Given the description of an element on the screen output the (x, y) to click on. 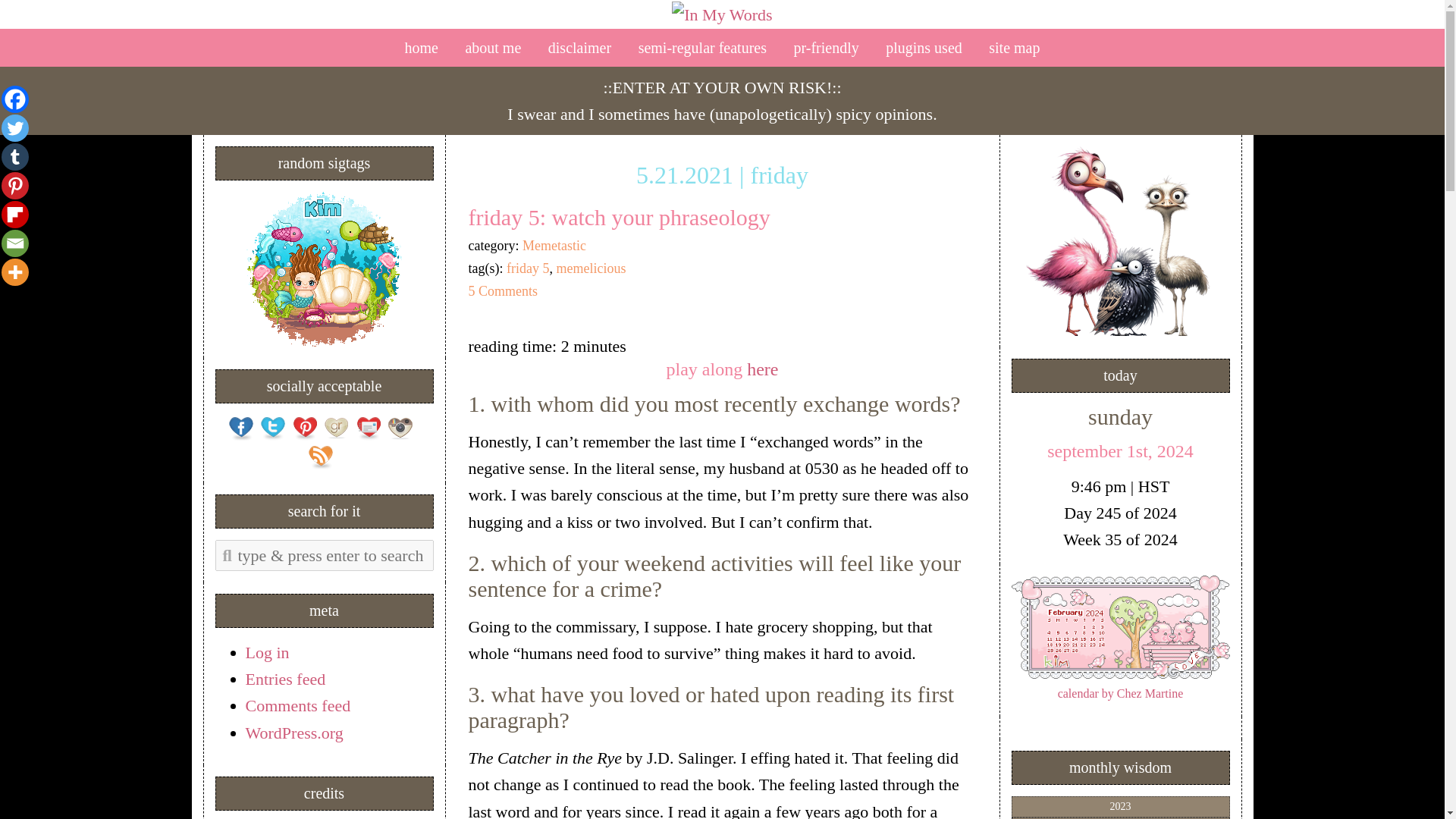
follow me... Pinterest (304, 428)
follow me... RSS (319, 457)
follow me... Instagram (400, 428)
friday 5 (527, 268)
memelicious (591, 268)
Click here (324, 268)
disclaimer (580, 47)
site map (1013, 47)
View all posts in Memetastic (554, 245)
Comments feed (298, 705)
